Given the description of an element on the screen output the (x, y) to click on. 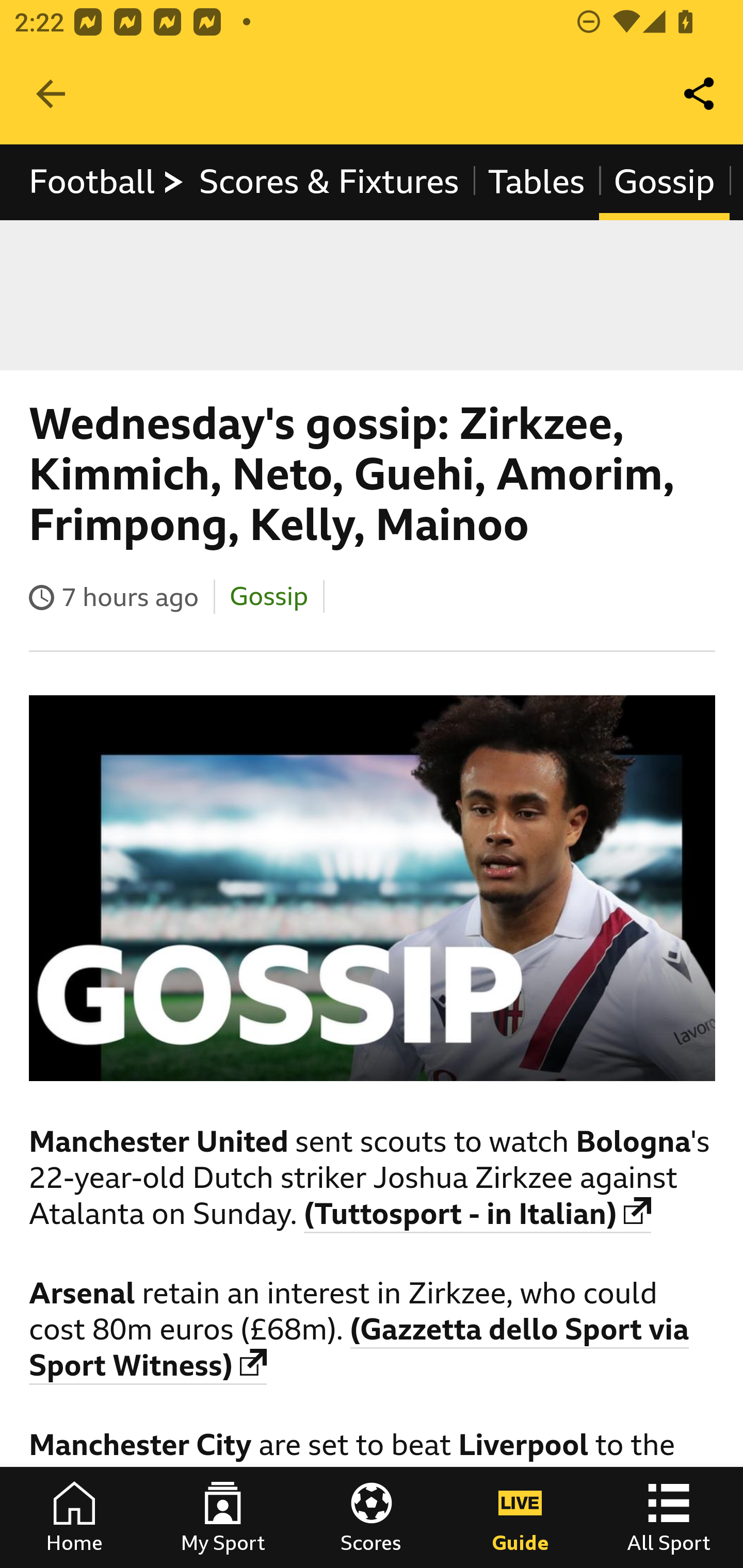
Navigate up (50, 93)
Share (699, 93)
Football  (106, 181)
Scores & Fixtures (329, 181)
Tables (536, 181)
Gossip (664, 181)
Gossip (267, 596)
Home (74, 1517)
My Sport (222, 1517)
Scores (371, 1517)
All Sport (668, 1517)
